Given the description of an element on the screen output the (x, y) to click on. 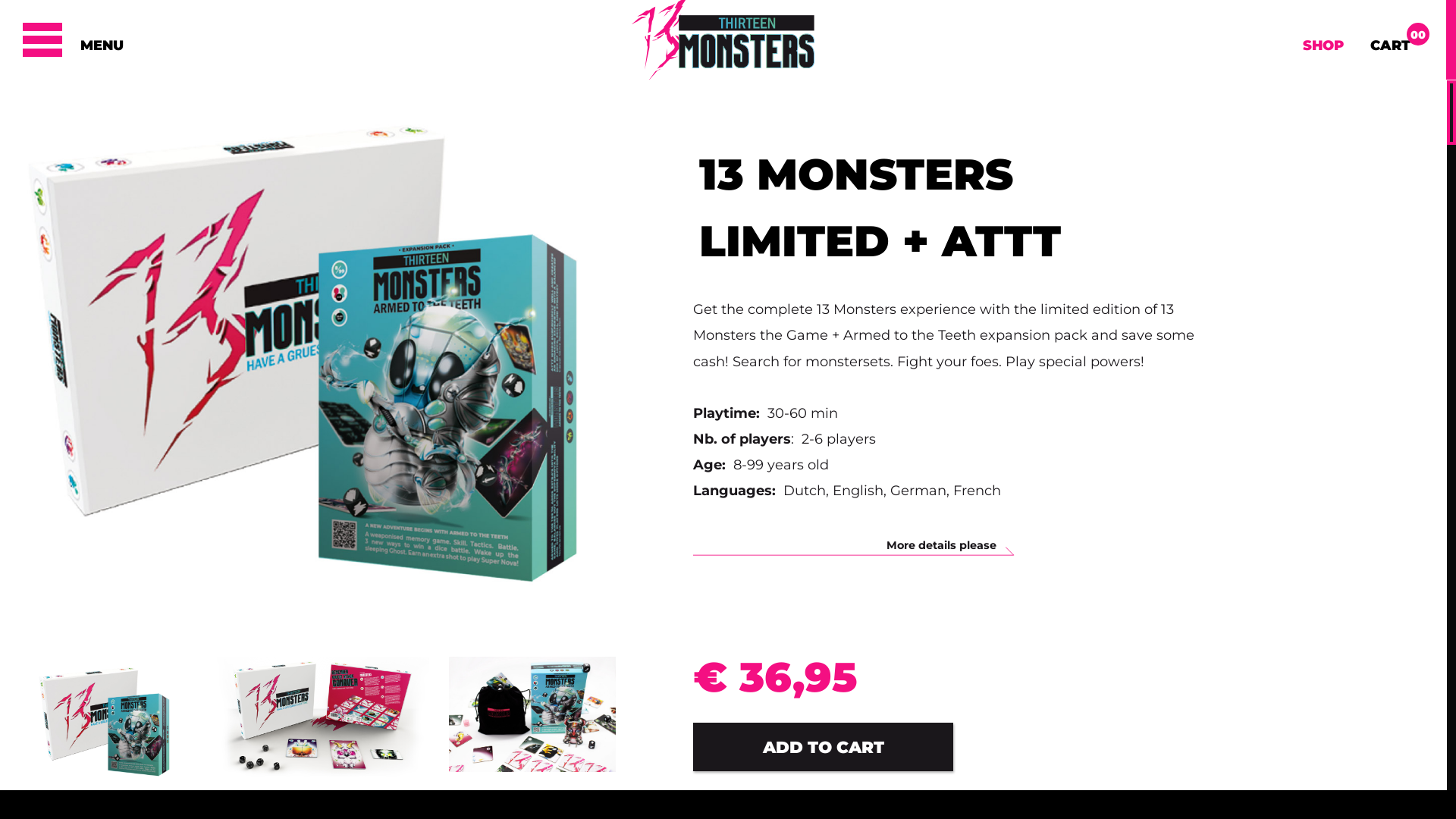
ADD TO CART Element type: text (823, 748)
More details please Element type: text (854, 546)
SHOP Element type: text (1322, 48)
CART
00 Element type: text (1390, 48)
